Given the description of an element on the screen output the (x, y) to click on. 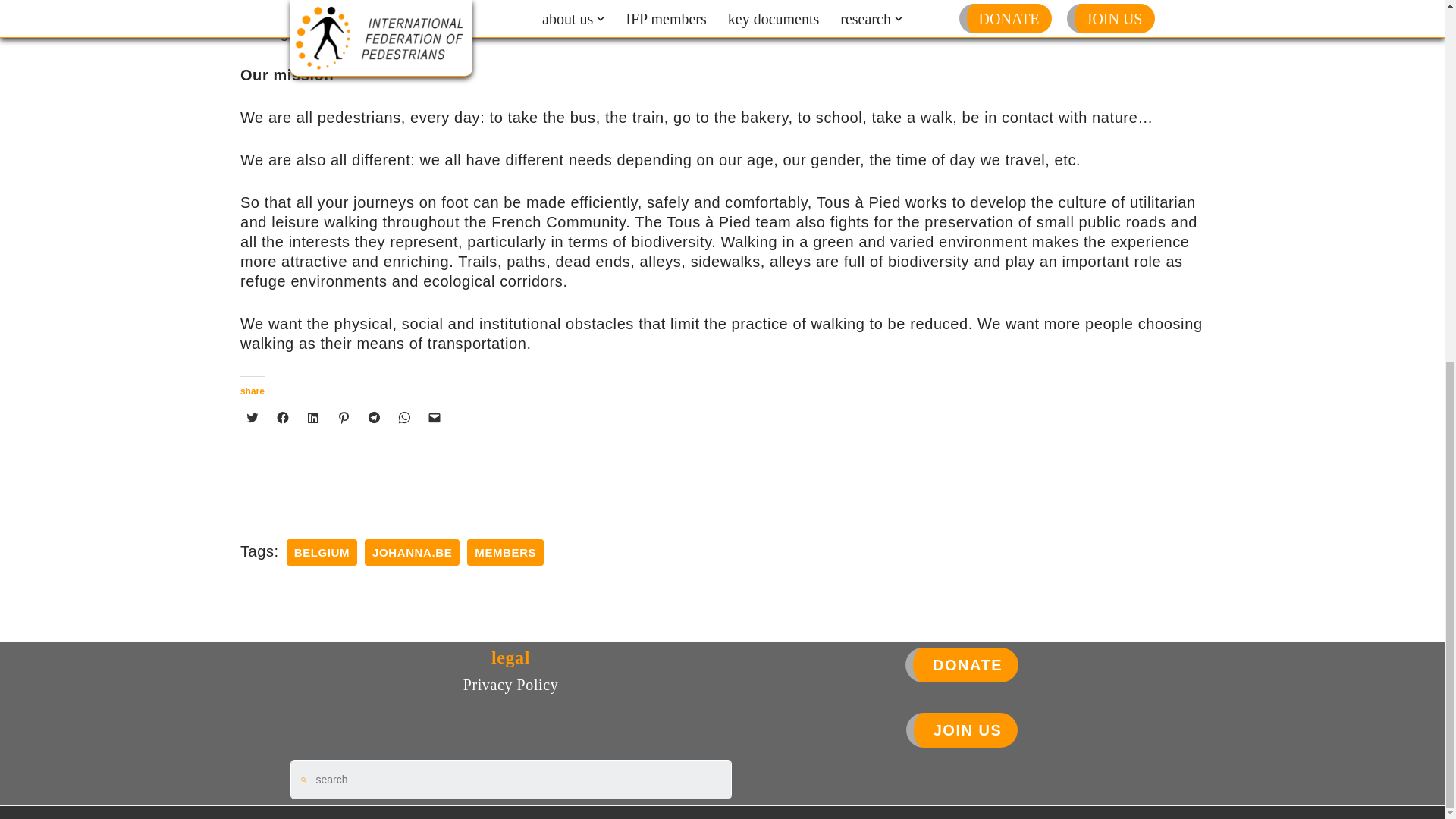
Click to share on Pinterest (343, 417)
Click to email a link to a friend (434, 417)
Johanna.be (412, 551)
Click to share on LinkedIn (312, 417)
Search (517, 779)
Click to share on Telegram (373, 417)
Belgium (321, 551)
members (505, 551)
Click to share on Facebook (282, 417)
Click to share on WhatsApp (403, 417)
